Given the description of an element on the screen output the (x, y) to click on. 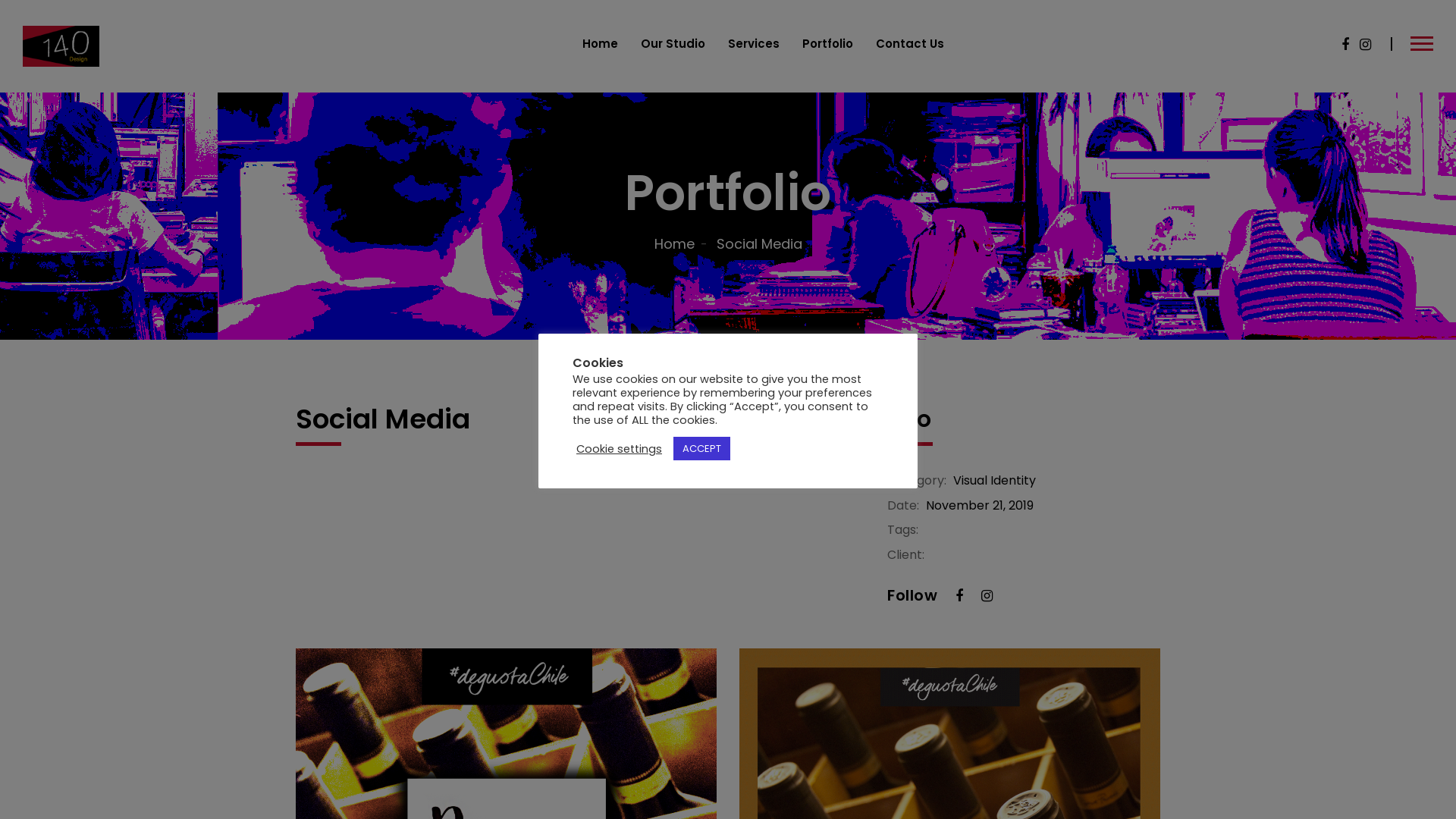
Our Studio Element type: text (672, 43)
Portfolio Element type: text (827, 43)
ACCEPT Element type: text (701, 448)
Home Element type: text (681, 243)
Cookie settings Element type: text (619, 448)
Services Element type: text (753, 43)
Contact Us Element type: text (909, 43)
Home Element type: text (600, 43)
Visual Identity Element type: text (994, 480)
